Given the description of an element on the screen output the (x, y) to click on. 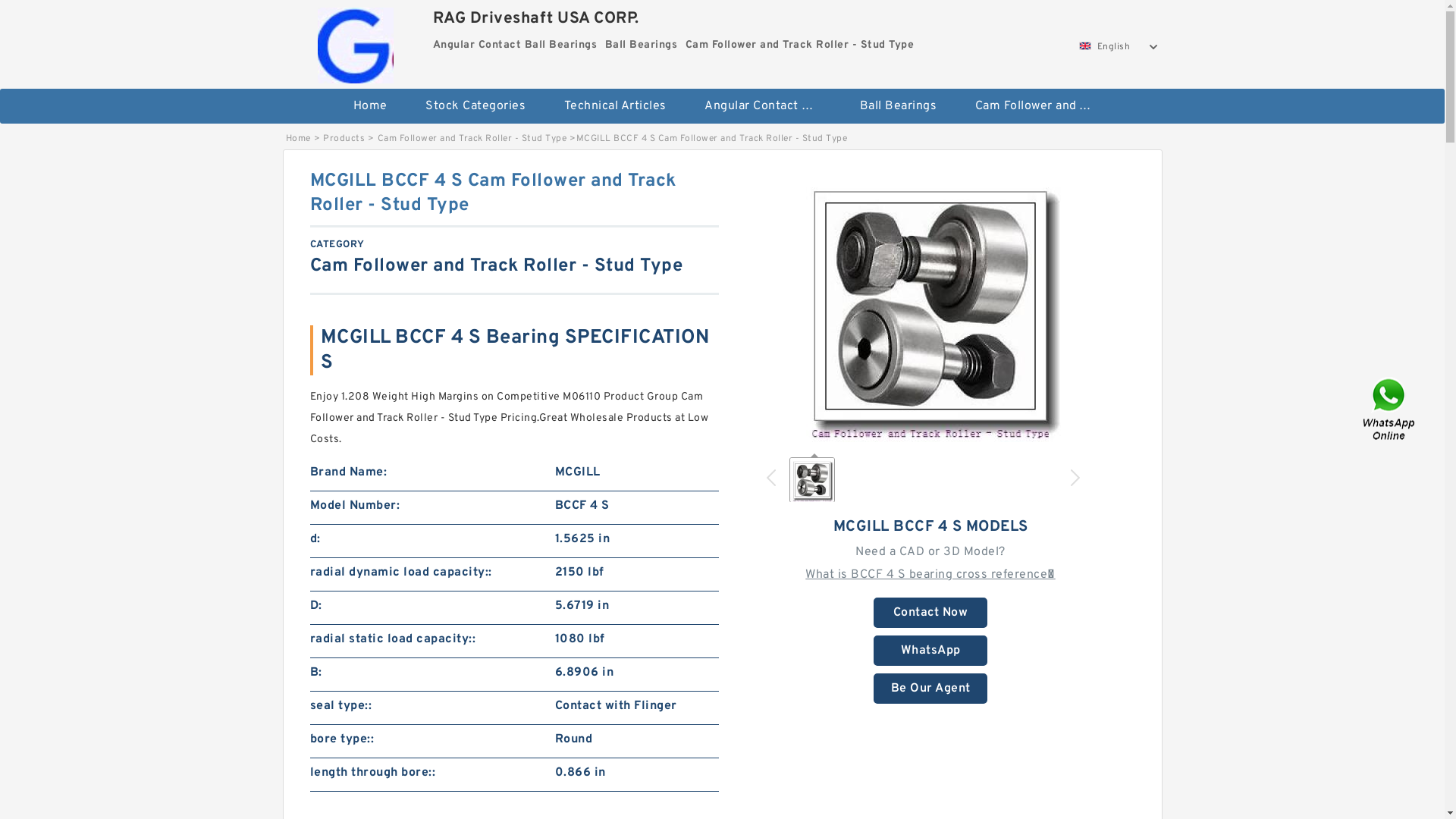
Stock Categories Element type: text (474, 105)
Contact Us Element type: hover (1389, 409)
RAG Driveshaft USA CORP. Element type: hover (355, 41)
Be Our Agent Element type: text (930, 688)
Cam Follower and Track Roller - Stud Type Element type: text (1032, 105)
Products Element type: text (343, 138)
Home Element type: text (369, 105)
Cam Follower and Track Roller - Stud Type Element type: text (472, 138)
WhatsApp Element type: text (930, 650)
Ball Bearings Element type: text (897, 105)
Home Element type: text (297, 138)
Angular Contact Ball Bearings Element type: text (762, 105)
Contact Now Element type: text (930, 612)
Technical Articles Element type: text (614, 105)
